Given the description of an element on the screen output the (x, y) to click on. 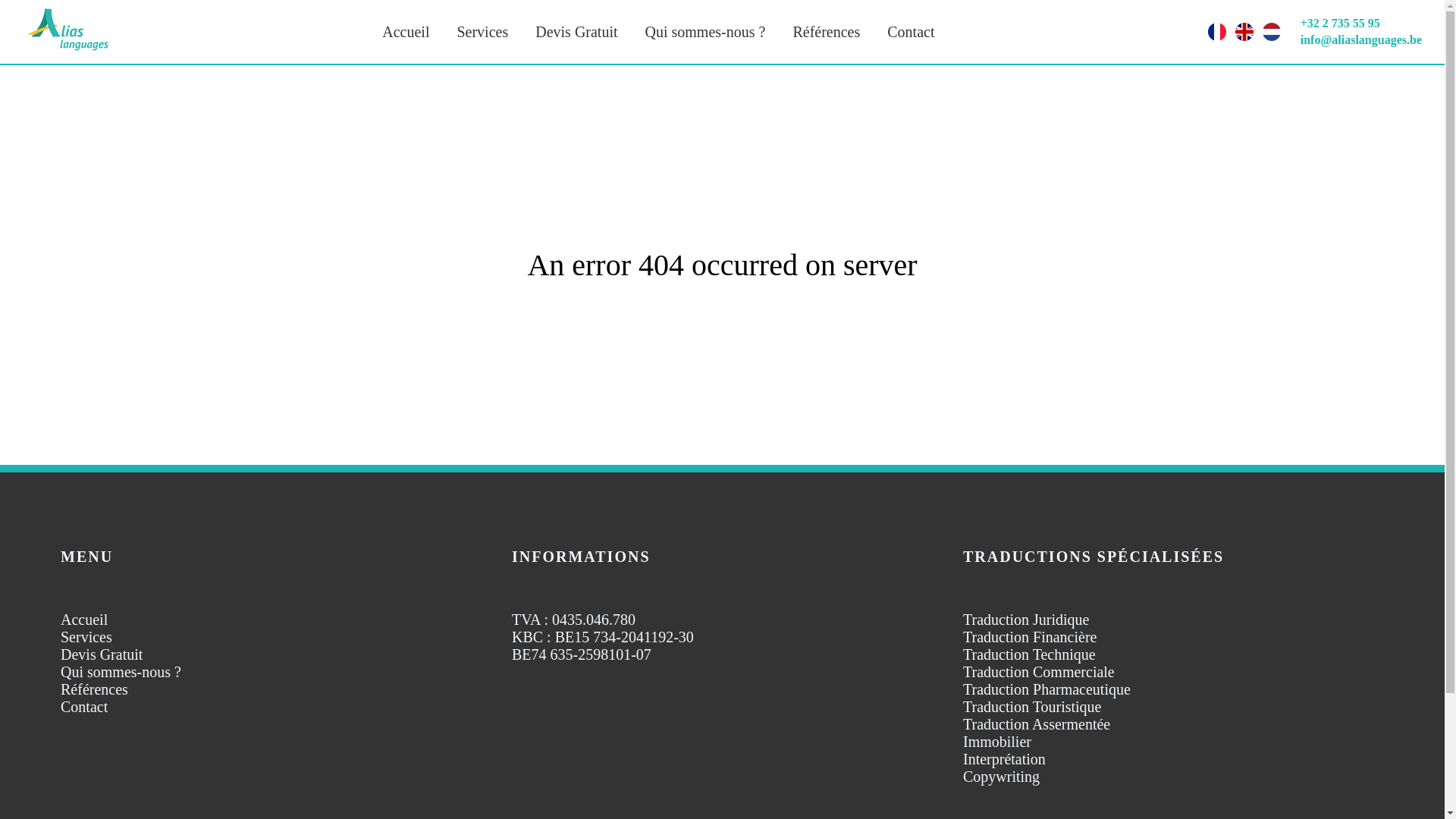
Accueil Element type: text (83, 619)
Traduction Pharmaceutique Element type: text (1046, 688)
Contact Element type: text (83, 706)
Devis Gratuit Element type: text (101, 654)
Traduction Commerciale Element type: text (1038, 671)
Immobilier Element type: text (997, 741)
Traduction Technique Element type: text (1029, 654)
Copywriting Element type: text (1001, 776)
info@aliaslanguages.be Element type: text (1360, 39)
Traduction Touristique Element type: text (1032, 706)
Logo Alias LanguagesAgence de traduction Element type: text (67, 48)
Qui sommes-nous ? Element type: text (120, 671)
Services Element type: text (86, 636)
Traduction Juridique Element type: text (1025, 619)
